Given the description of an element on the screen output the (x, y) to click on. 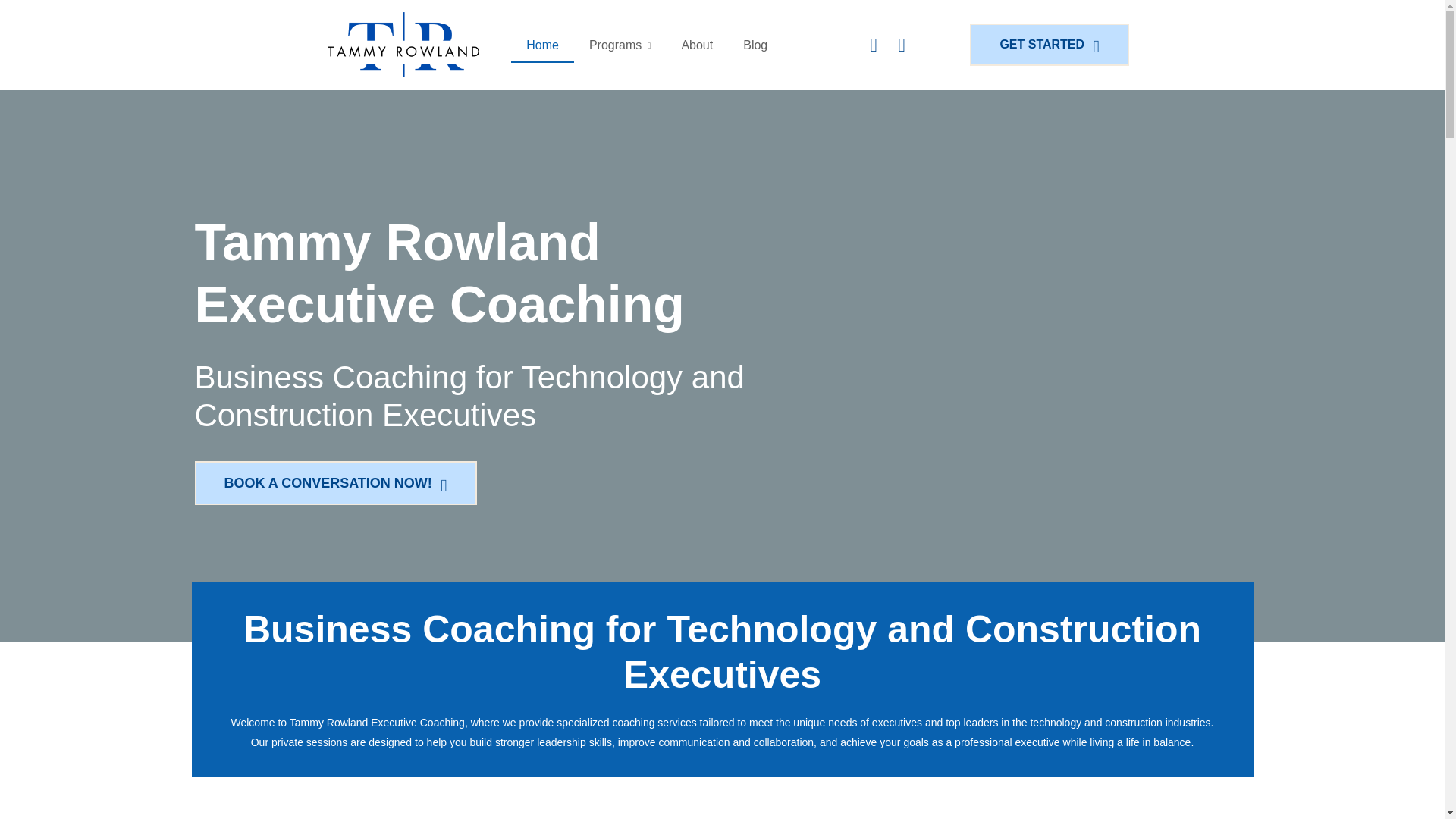
Programs (619, 45)
GET STARTED (1053, 44)
About (696, 45)
Blog (755, 45)
BOOK A CONVERSATION NOW! (337, 483)
Home (542, 45)
